Given the description of an element on the screen output the (x, y) to click on. 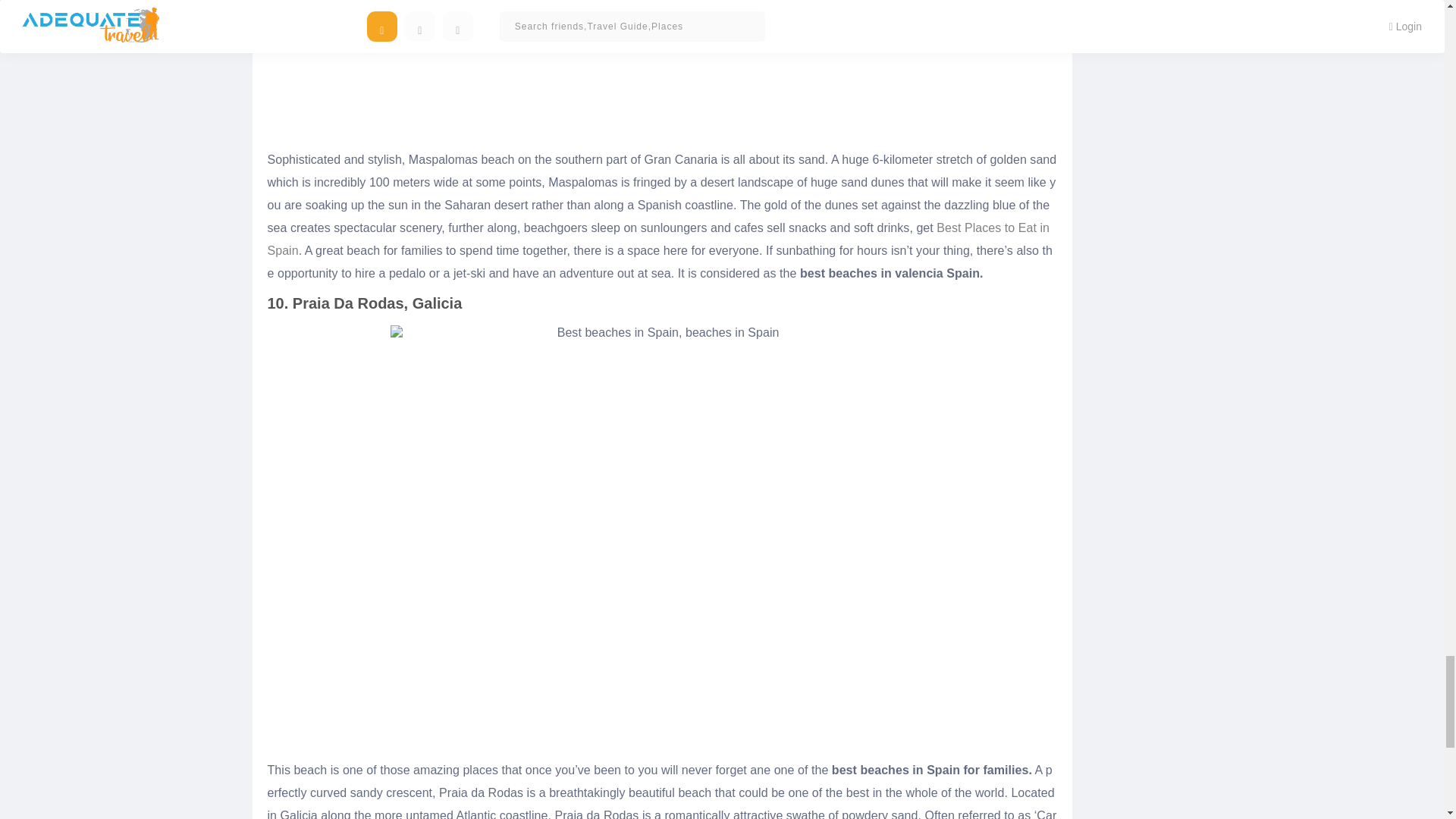
Beaches in Spain (662, 70)
Best Places to Eat in Spain (657, 239)
